Given the description of an element on the screen output the (x, y) to click on. 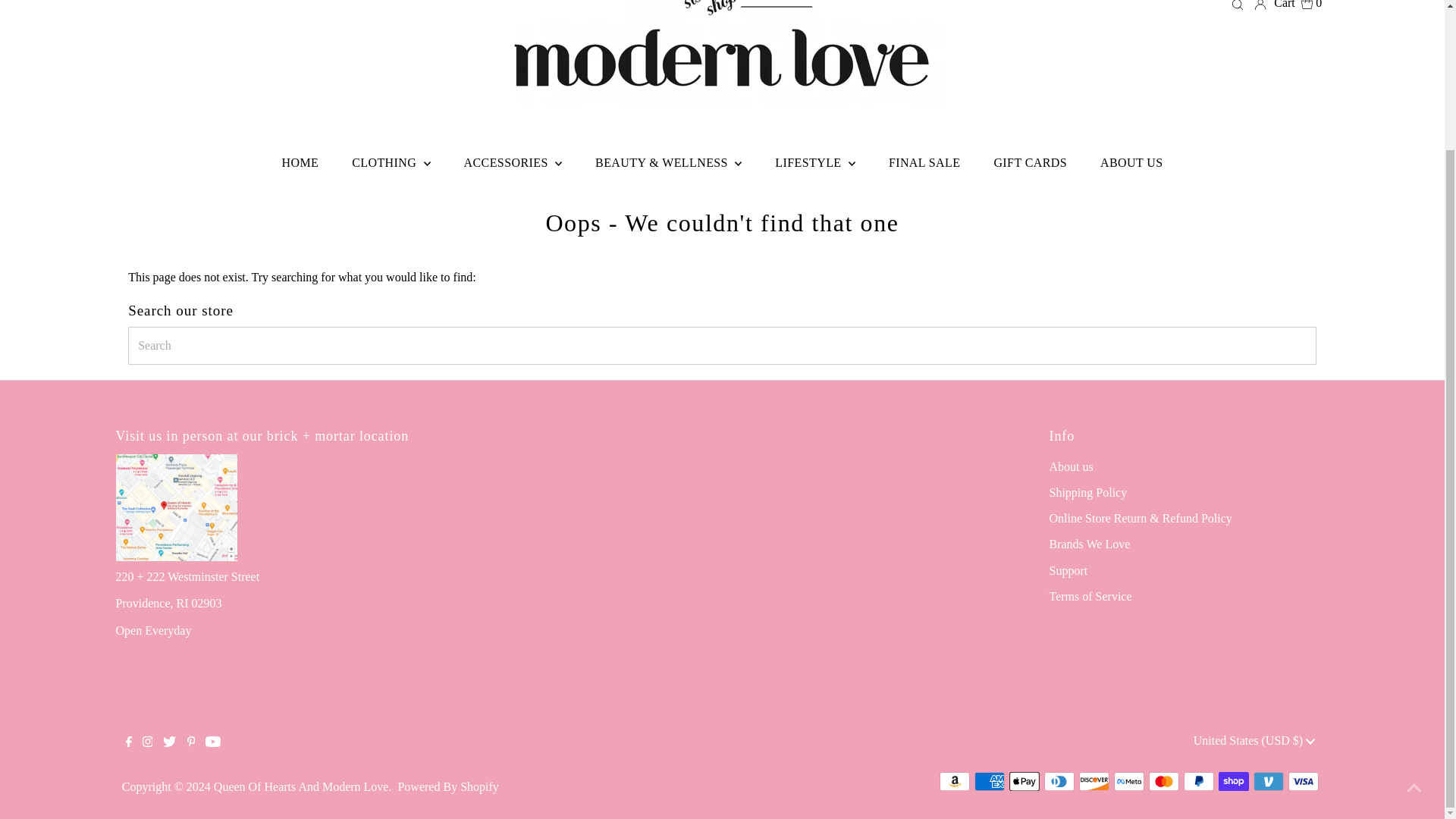
Amazon (954, 781)
